Given the description of an element on the screen output the (x, y) to click on. 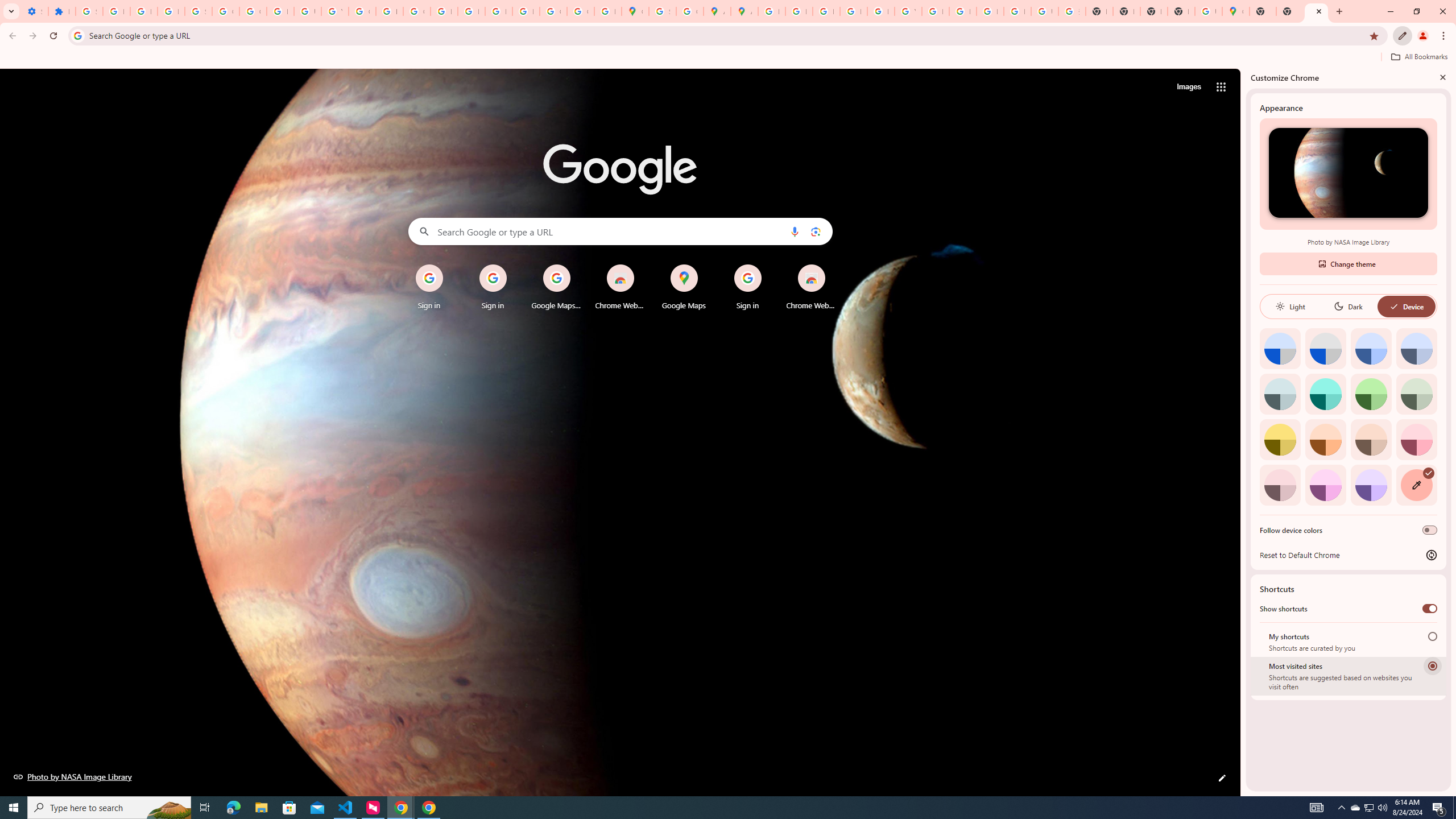
Settings - On startup (34, 11)
Grey (1279, 393)
Rose (1416, 439)
Customize this page (1221, 778)
Sign in - Google Accounts (88, 11)
Google Maps (634, 11)
Photo by NASA Image Library (72, 776)
Photo by NASA Image Library (1348, 172)
